Given the description of an element on the screen output the (x, y) to click on. 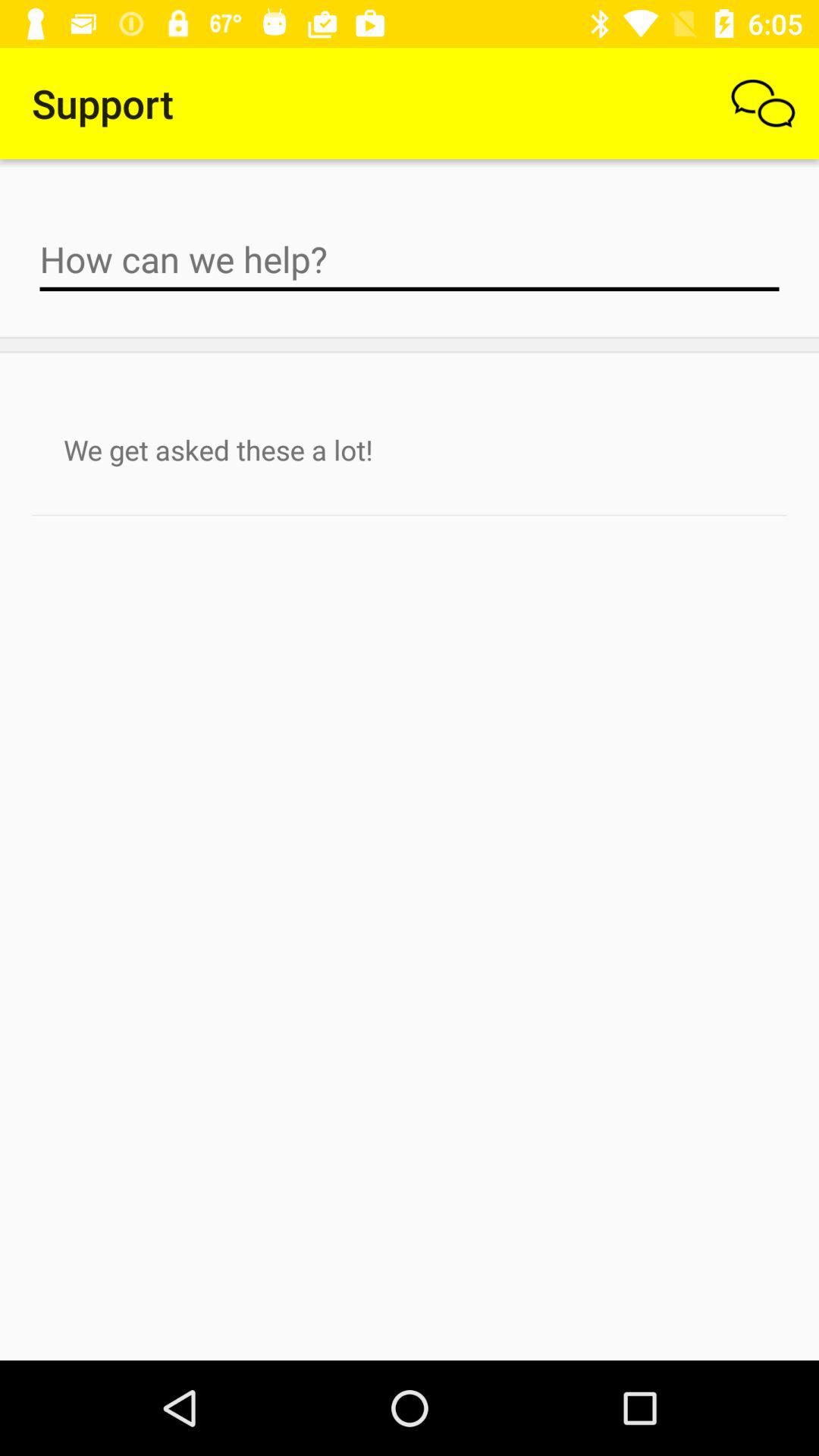
scroll until the we get asked item (409, 449)
